Given the description of an element on the screen output the (x, y) to click on. 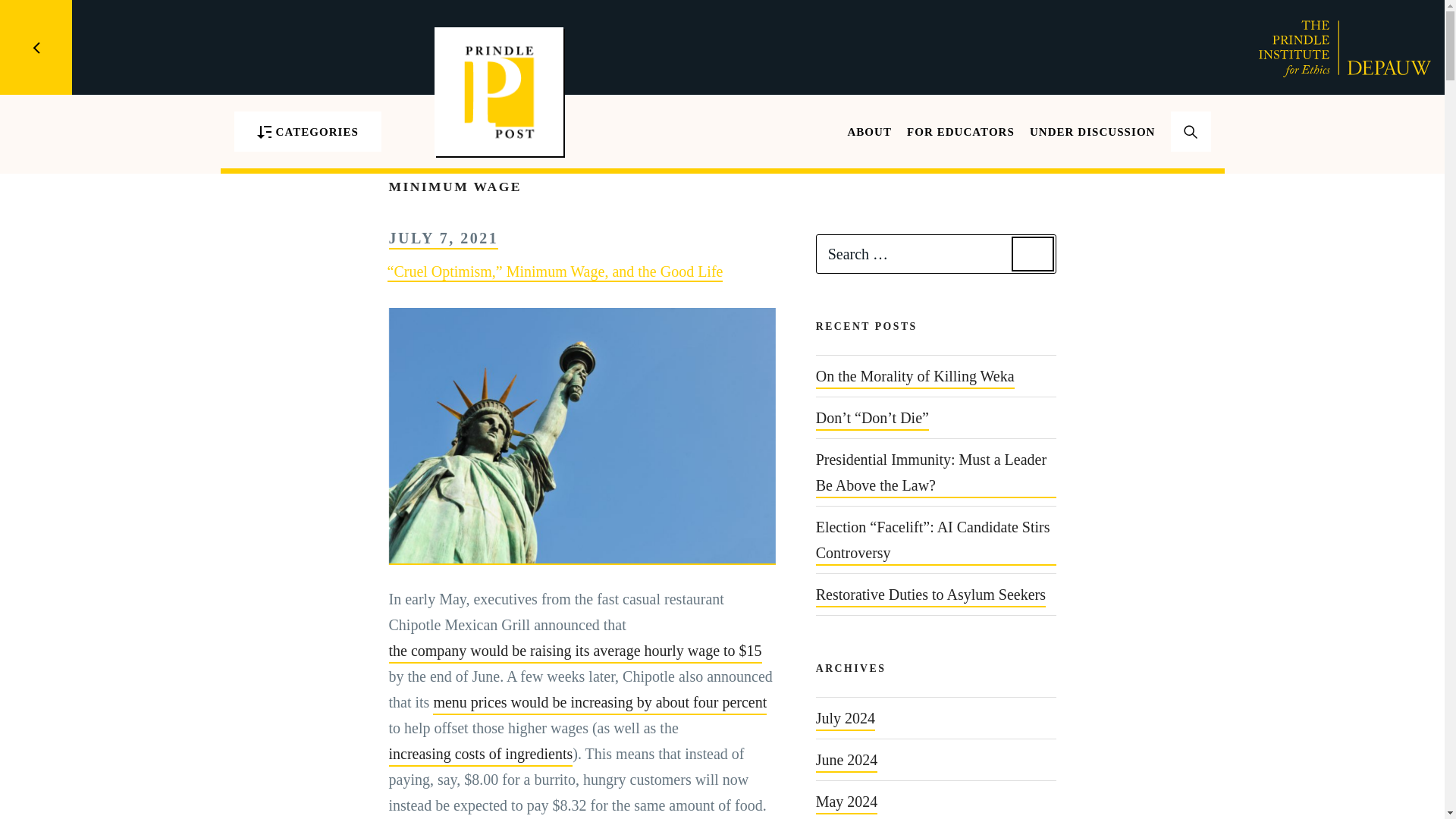
UNDER DISCUSSION (1092, 131)
GO (1190, 151)
ABOUT (869, 131)
CATEGORIES (306, 131)
JULY 7, 2021 (442, 237)
menu prices would be increasing by about four percent (599, 701)
FOR EDUCATORS (960, 131)
